Given the description of an element on the screen output the (x, y) to click on. 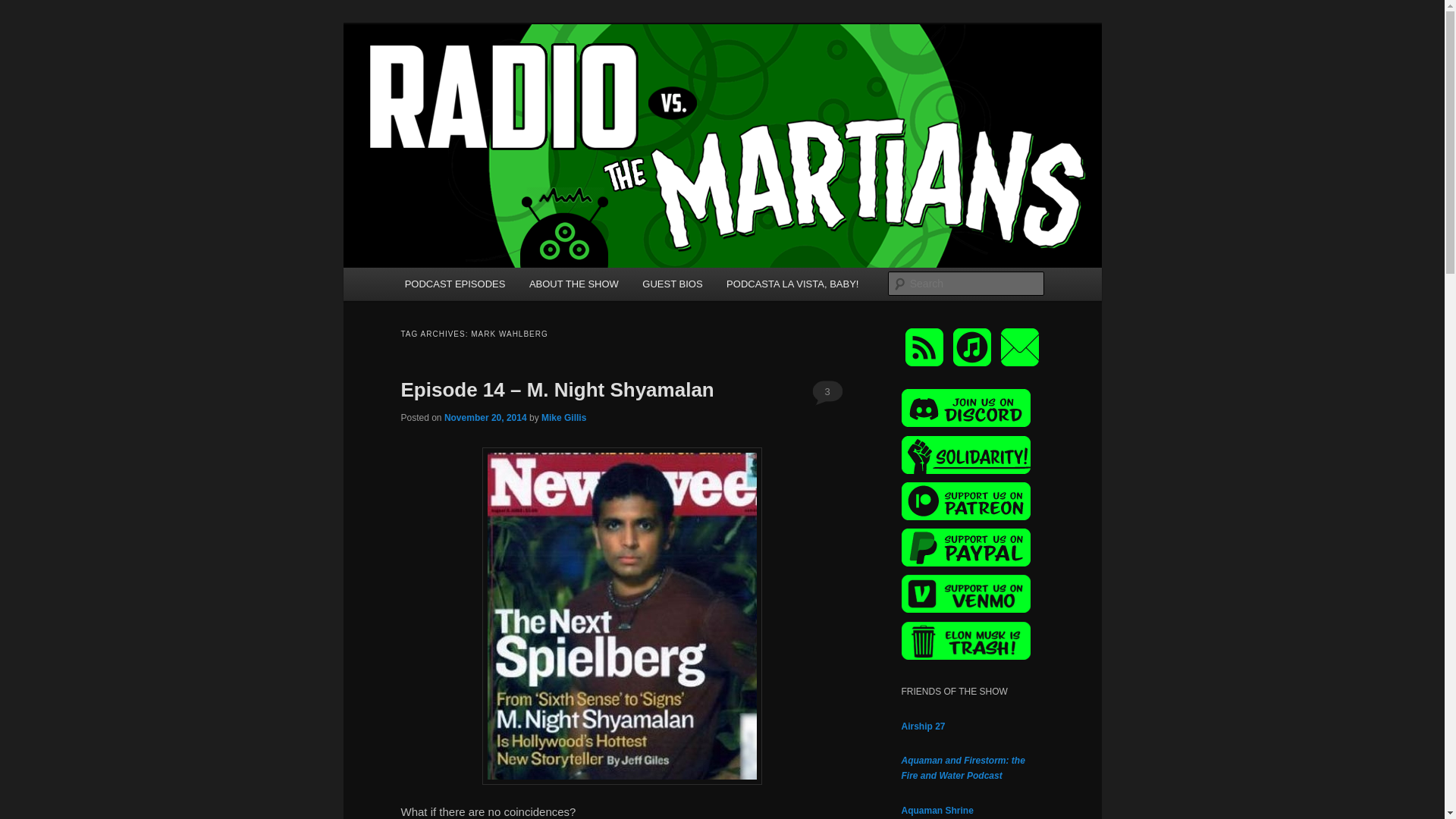
Mike Gillis (563, 417)
GUEST BIOS (672, 283)
Radio vs. the Martians! (524, 78)
View all posts by Mike Gillis (563, 417)
8:31 AM (485, 417)
Search (24, 8)
3 (827, 391)
PODCAST EPISODES (454, 283)
ABOUT THE SHOW (573, 283)
